Given the description of an element on the screen output the (x, y) to click on. 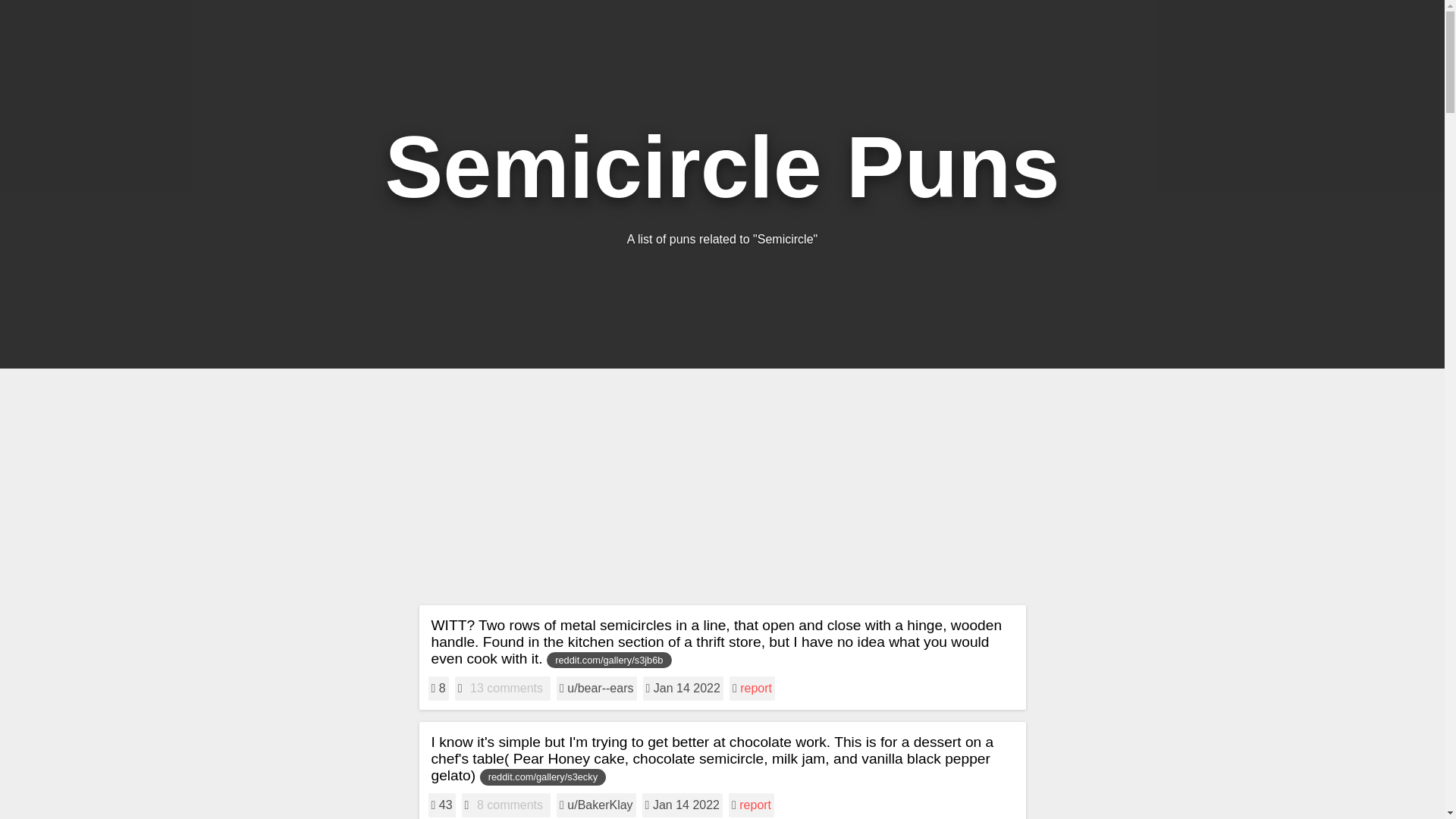
report (755, 804)
report (755, 687)
13 comments (506, 688)
8 comments (509, 805)
